Given the description of an element on the screen output the (x, y) to click on. 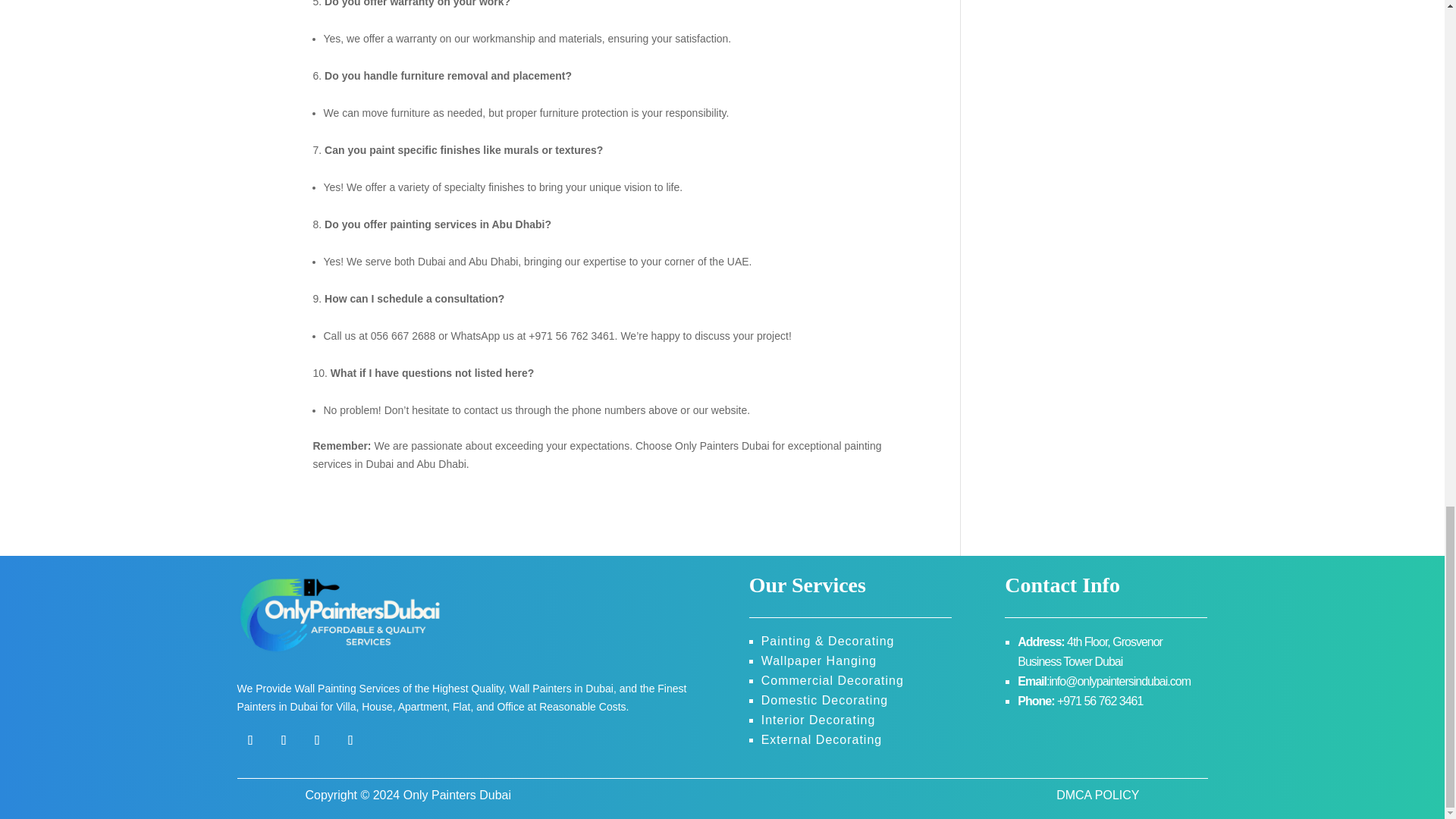
Follow on Youtube (316, 739)
Follow on Instagram (283, 739)
Follow on TikTok (350, 739)
Follow on Facebook (249, 739)
